Given the description of an element on the screen output the (x, y) to click on. 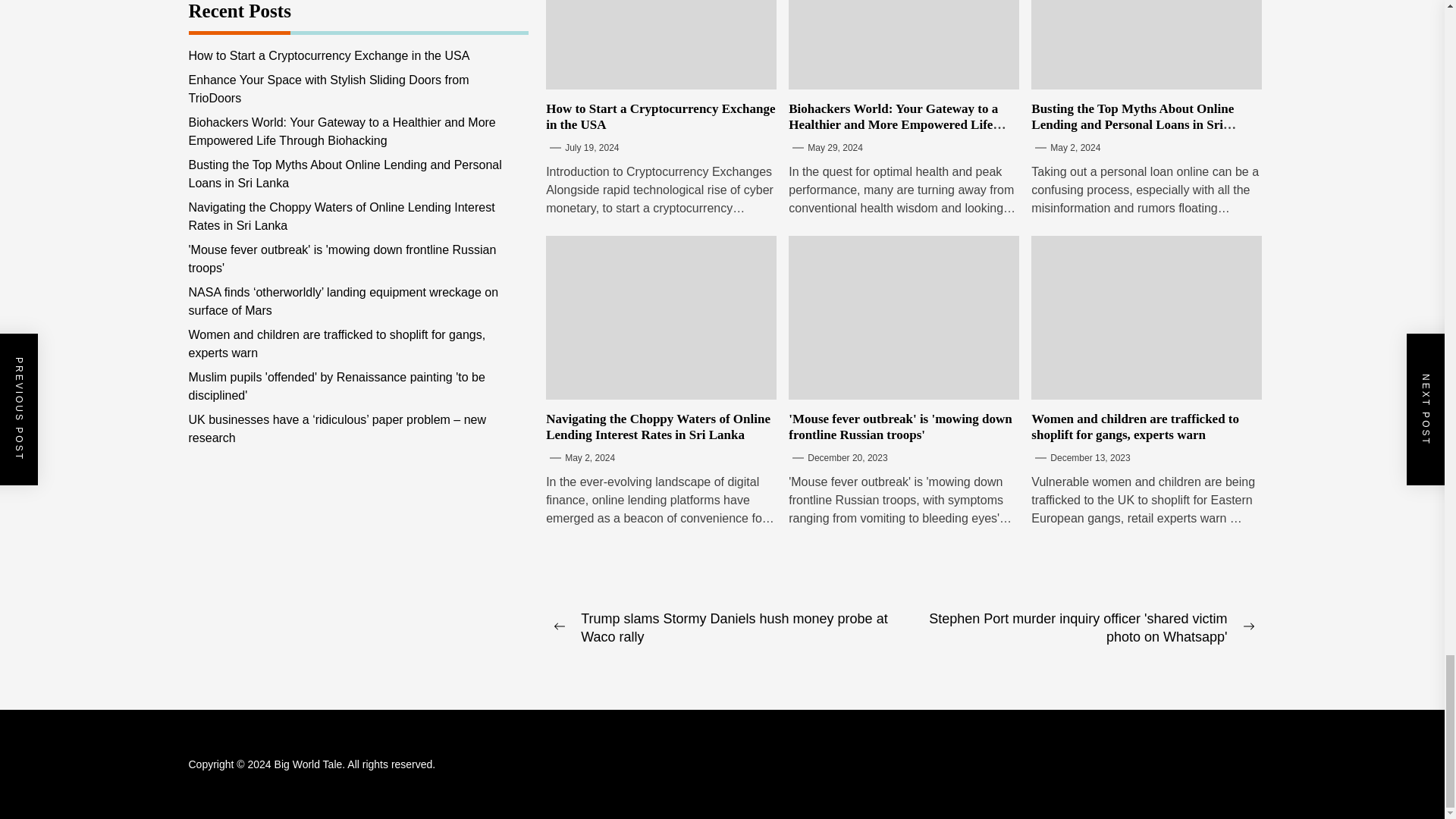
Big World Tale (311, 764)
May 2, 2024 (1074, 147)
May 29, 2024 (835, 147)
July 19, 2024 (591, 147)
How to Start a Cryptocurrency Exchange in the USA (660, 116)
